Given the description of an element on the screen output the (x, y) to click on. 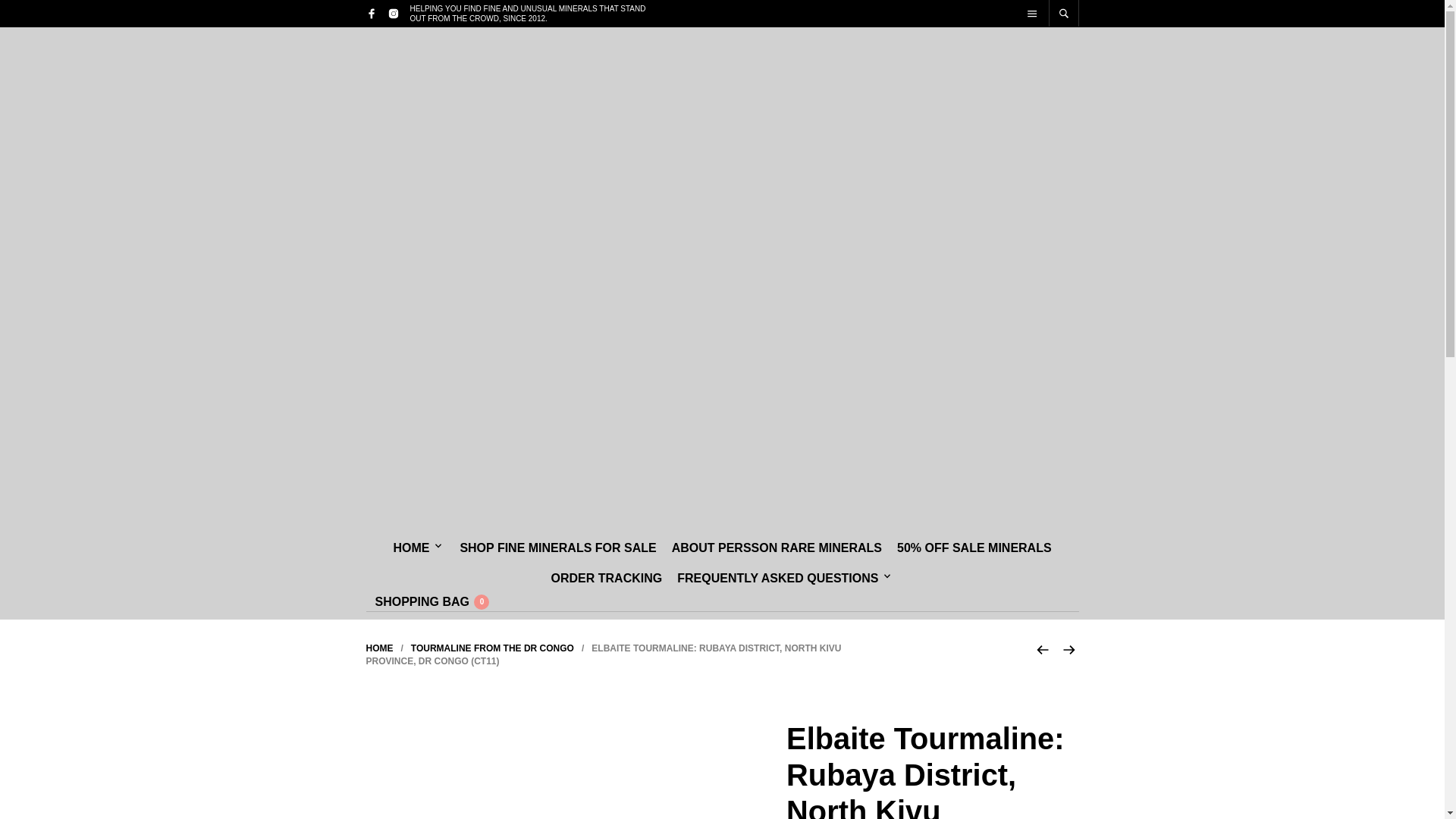
ABOUT PERSSON RARE MINERALS (776, 548)
SHOP FINE MINERALS FOR SALE (557, 548)
HOME (379, 647)
ORDER TRACKING (606, 578)
HOME (414, 548)
TOURMALINE FROM THE DR CONGO (491, 647)
FREQUENTLY ASKED QUESTIONS (781, 578)
